Given the description of an element on the screen output the (x, y) to click on. 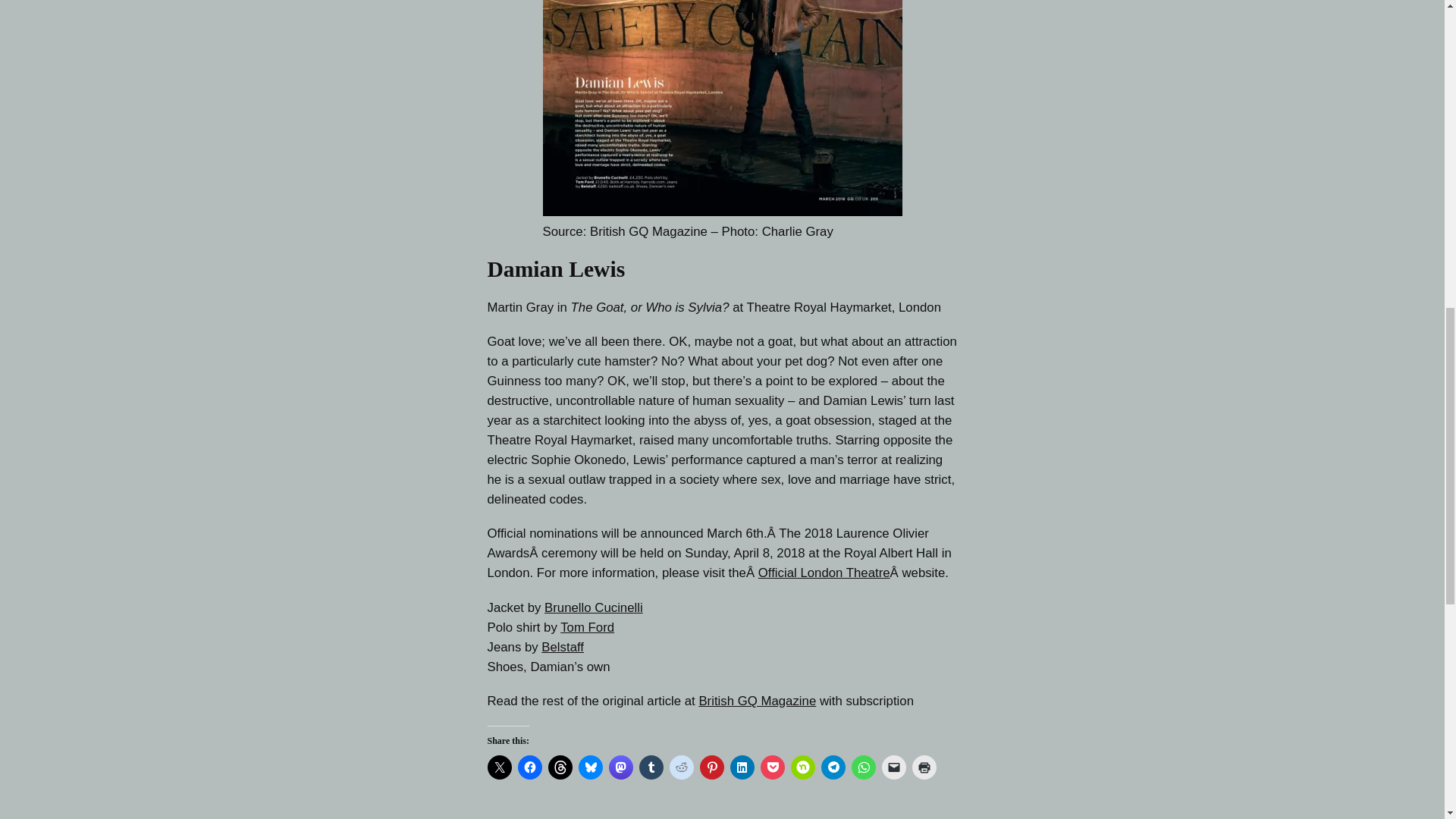
Click to share on Nextdoor (801, 767)
Click to share on Pinterest (710, 767)
Click to share on Bluesky (590, 767)
Click to print (923, 767)
Click to share on Threads (559, 767)
Click to share on Facebook (528, 767)
Click to share on Tumblr (650, 767)
Click to share on X (498, 767)
Click to share on Mastodon (619, 767)
Click to share on Pocket (772, 767)
